Given the description of an element on the screen output the (x, y) to click on. 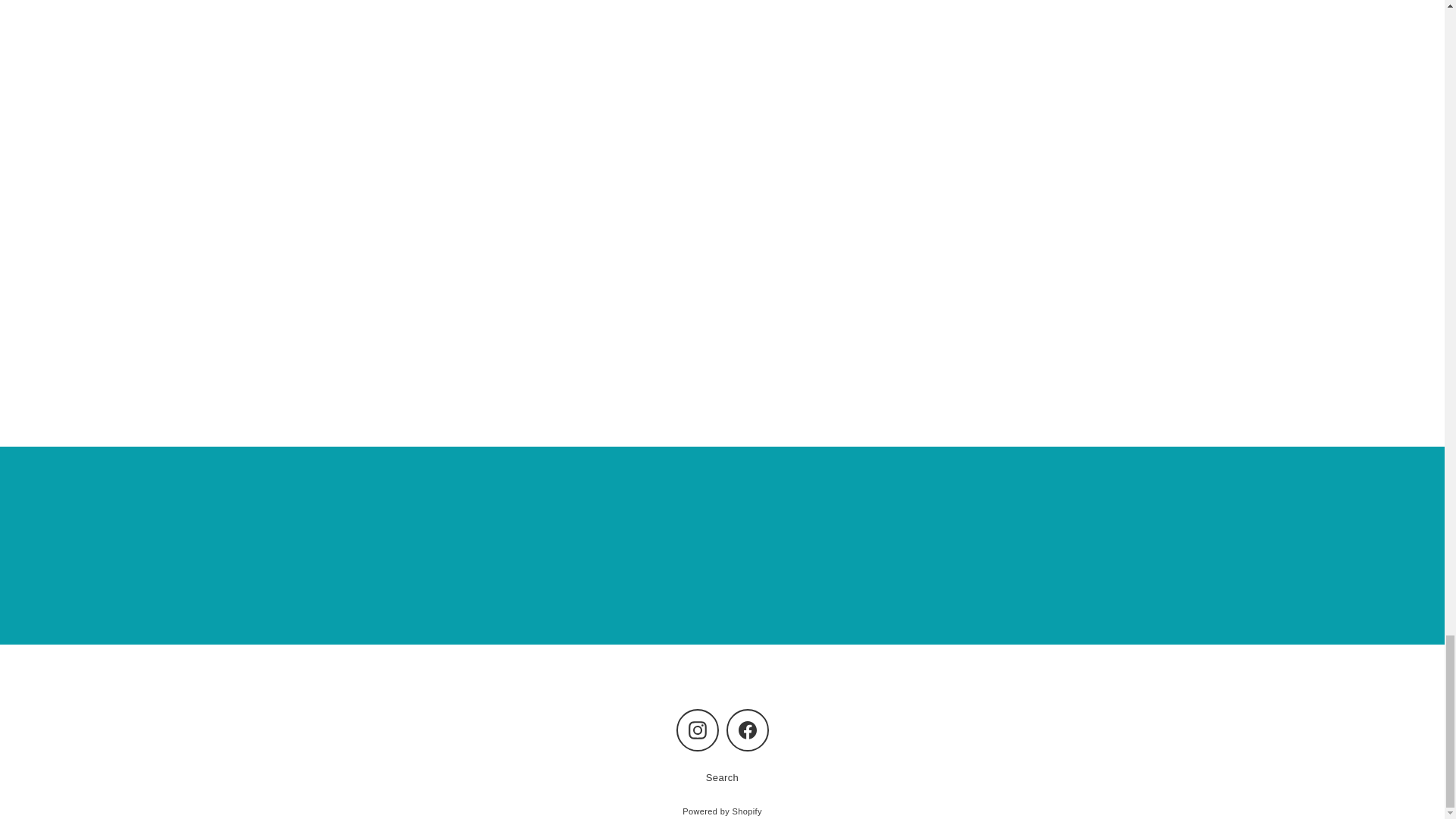
Nikolas Alan Jewelers on Instagram (698, 730)
Nikolas Alan Jewelers on Facebook (747, 730)
